Given the description of an element on the screen output the (x, y) to click on. 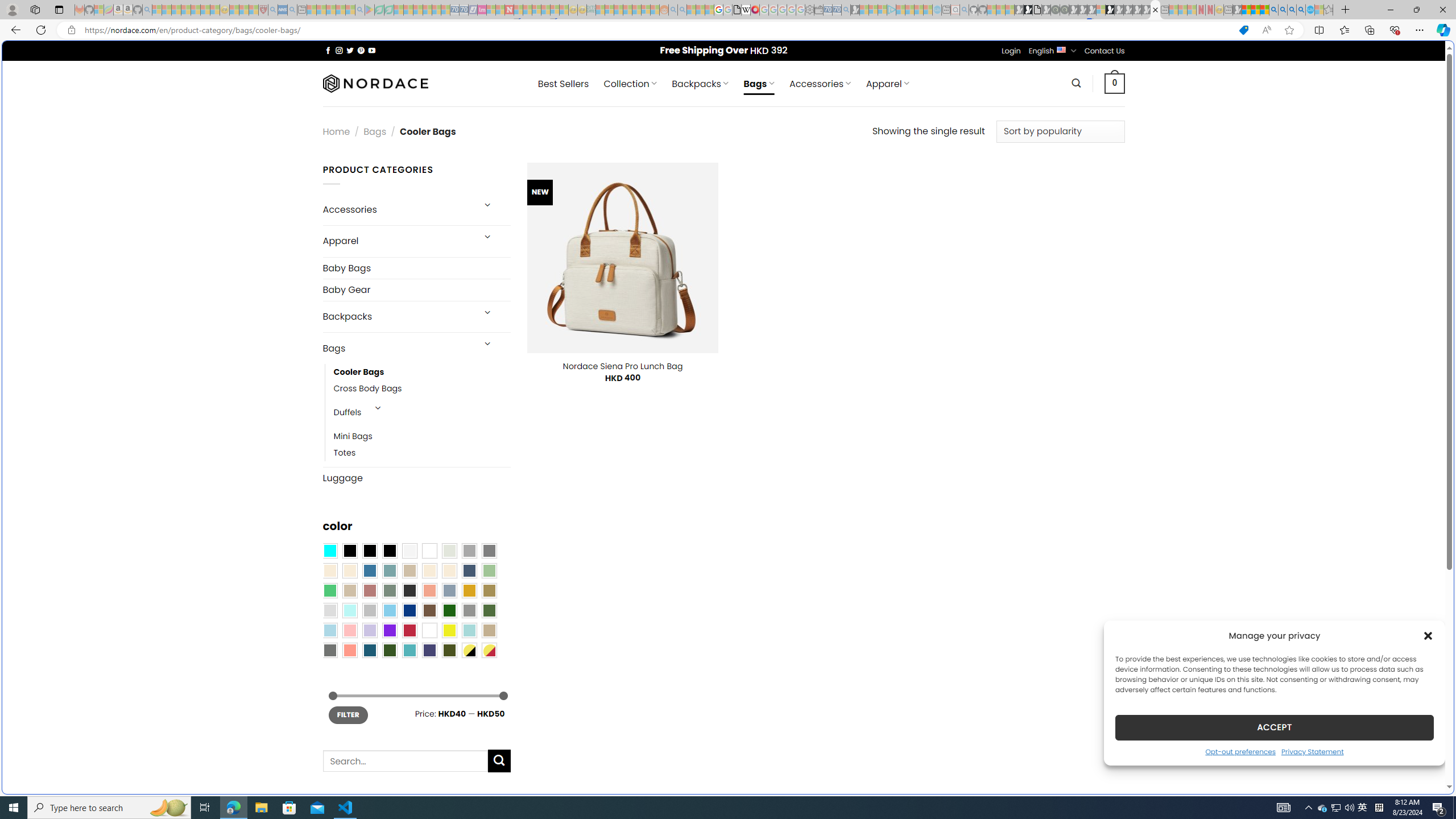
Pink (349, 630)
Cooler Bags (422, 371)
Nordace Siena Pro Lunch Bag (622, 365)
Green (488, 610)
